Given the description of an element on the screen output the (x, y) to click on. 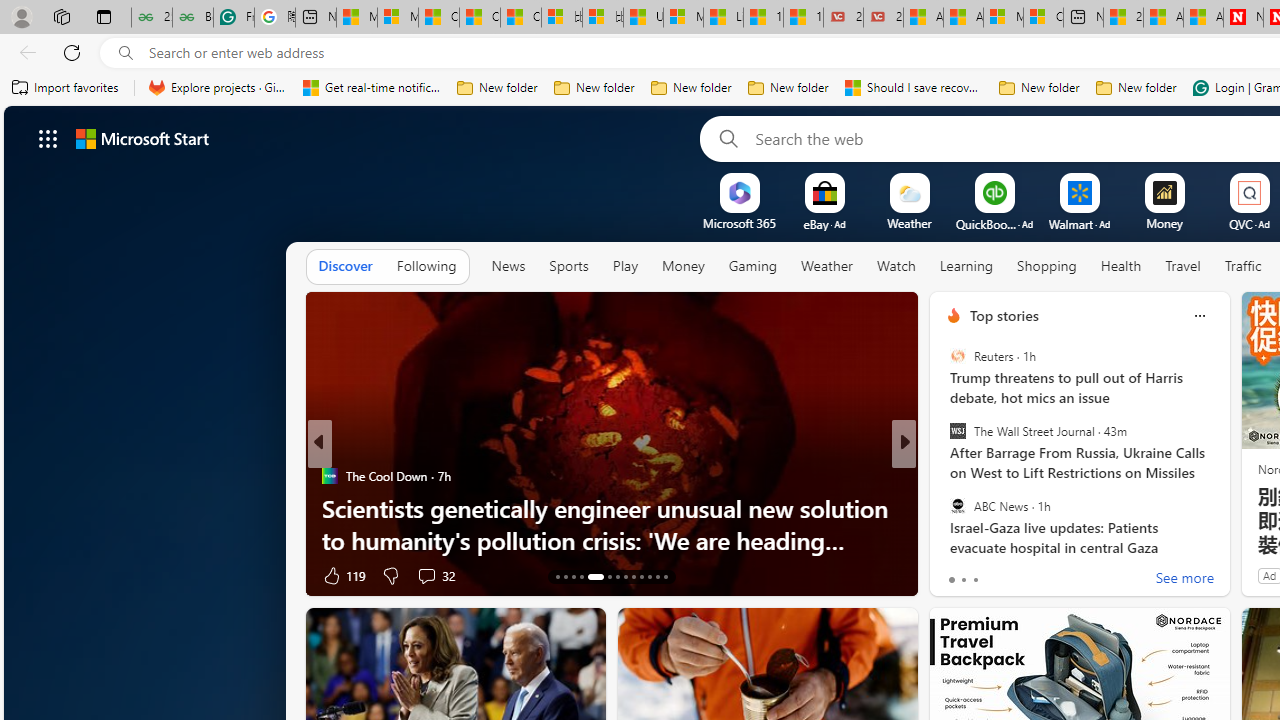
24 Like (956, 574)
AutomationID: tab-22 (641, 576)
View comments 32 Comment (435, 574)
